Given the description of an element on the screen output the (x, y) to click on. 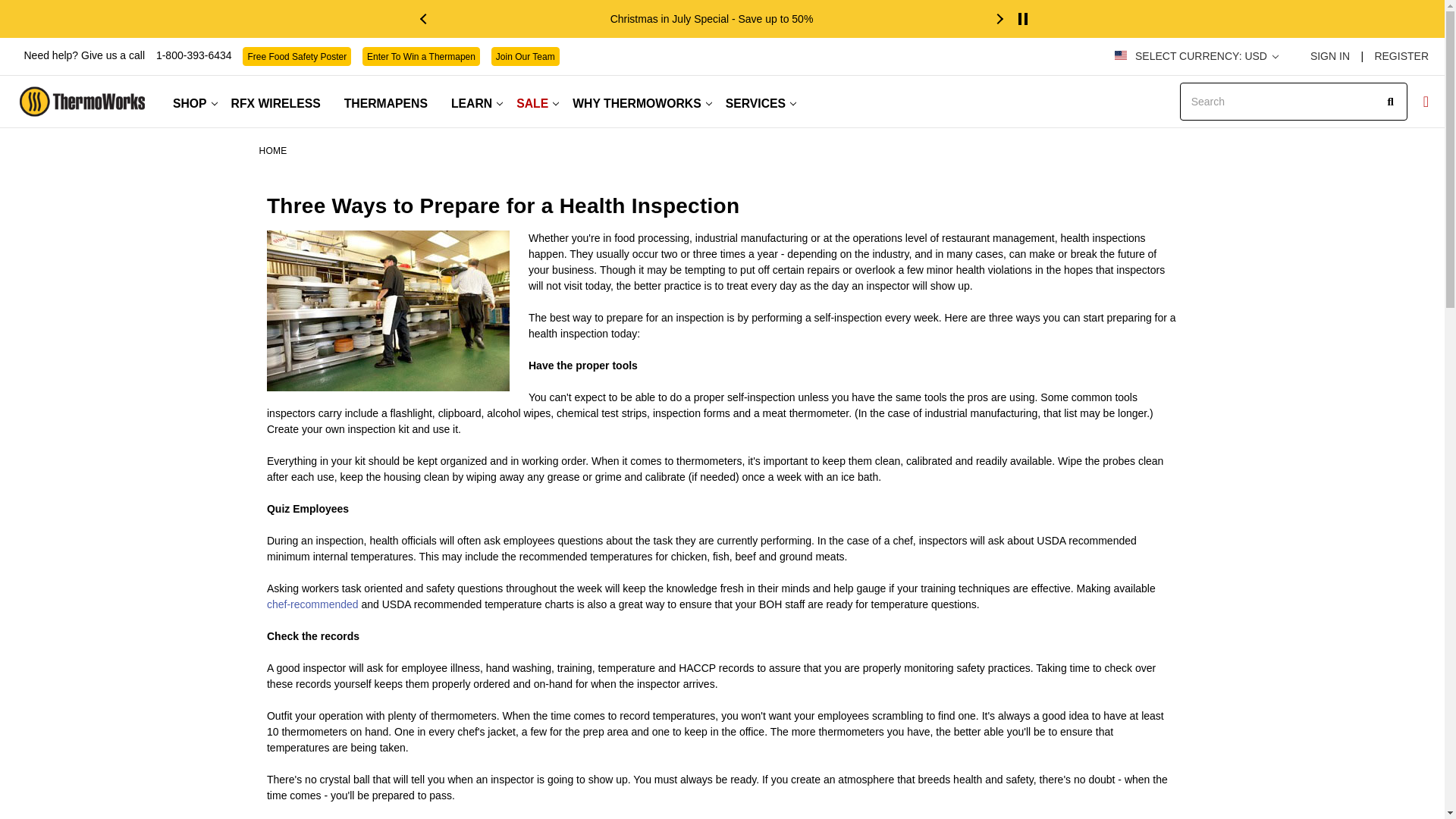
Need help? Give us a call 1-800-393-6434 (129, 55)
Enter To Win a Thermapen (421, 56)
Free Food Safety Poster (296, 56)
SHOP (193, 103)
SELECT CURRENCY: USD (1205, 56)
ThermoWorks (82, 101)
Close (1424, 23)
SIGN IN (1328, 56)
REGISTER (1397, 56)
Join Our Team (525, 56)
